Given the description of an element on the screen output the (x, y) to click on. 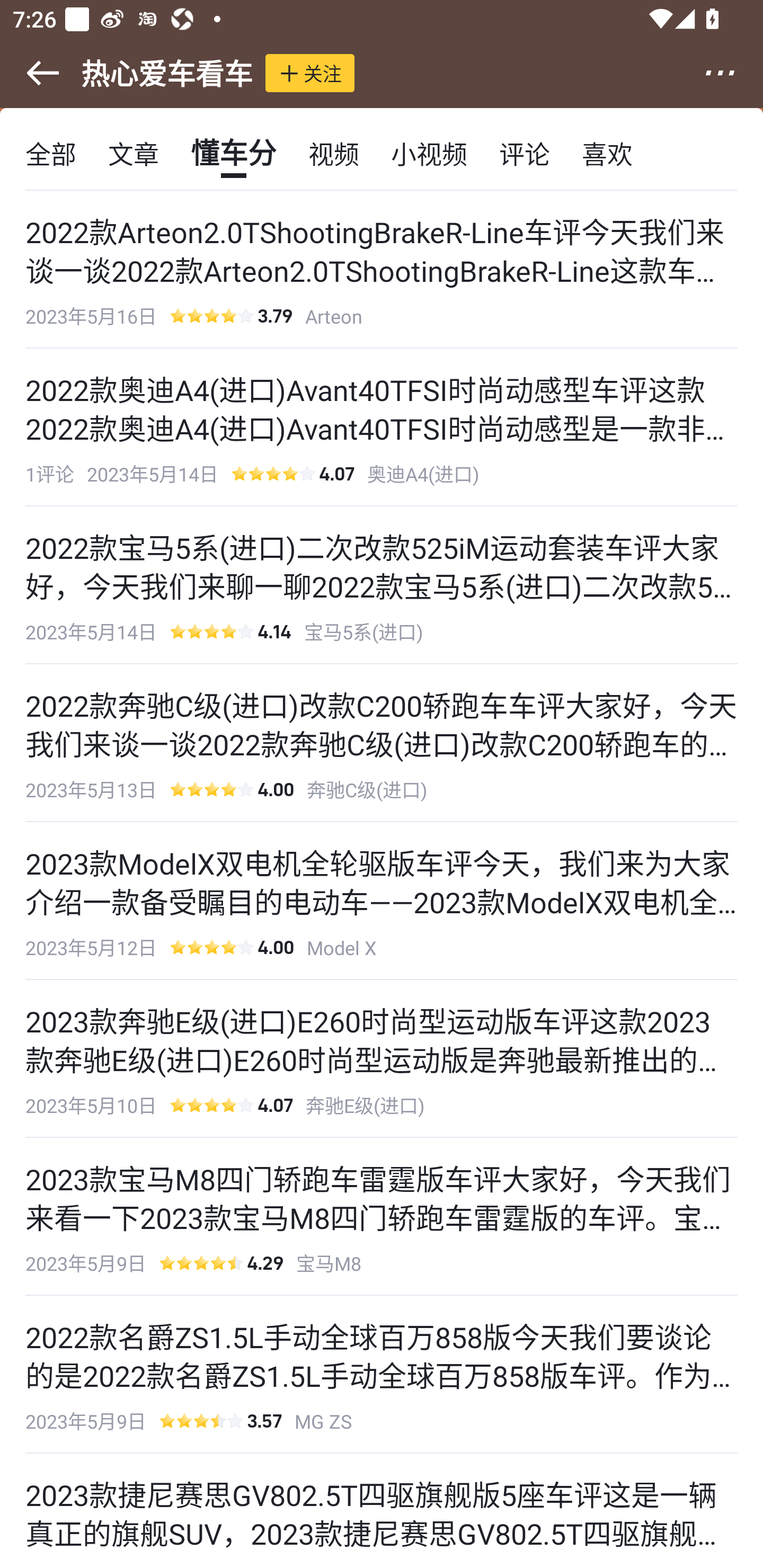
 (30, 72)
 (732, 72)
 关注 (309, 72)
全部 (50, 152)
文章 (133, 152)
懂车分 (233, 152)
视频 (333, 152)
小视频 (428, 152)
评论 (524, 152)
喜欢 (606, 152)
